Given the description of an element on the screen output the (x, y) to click on. 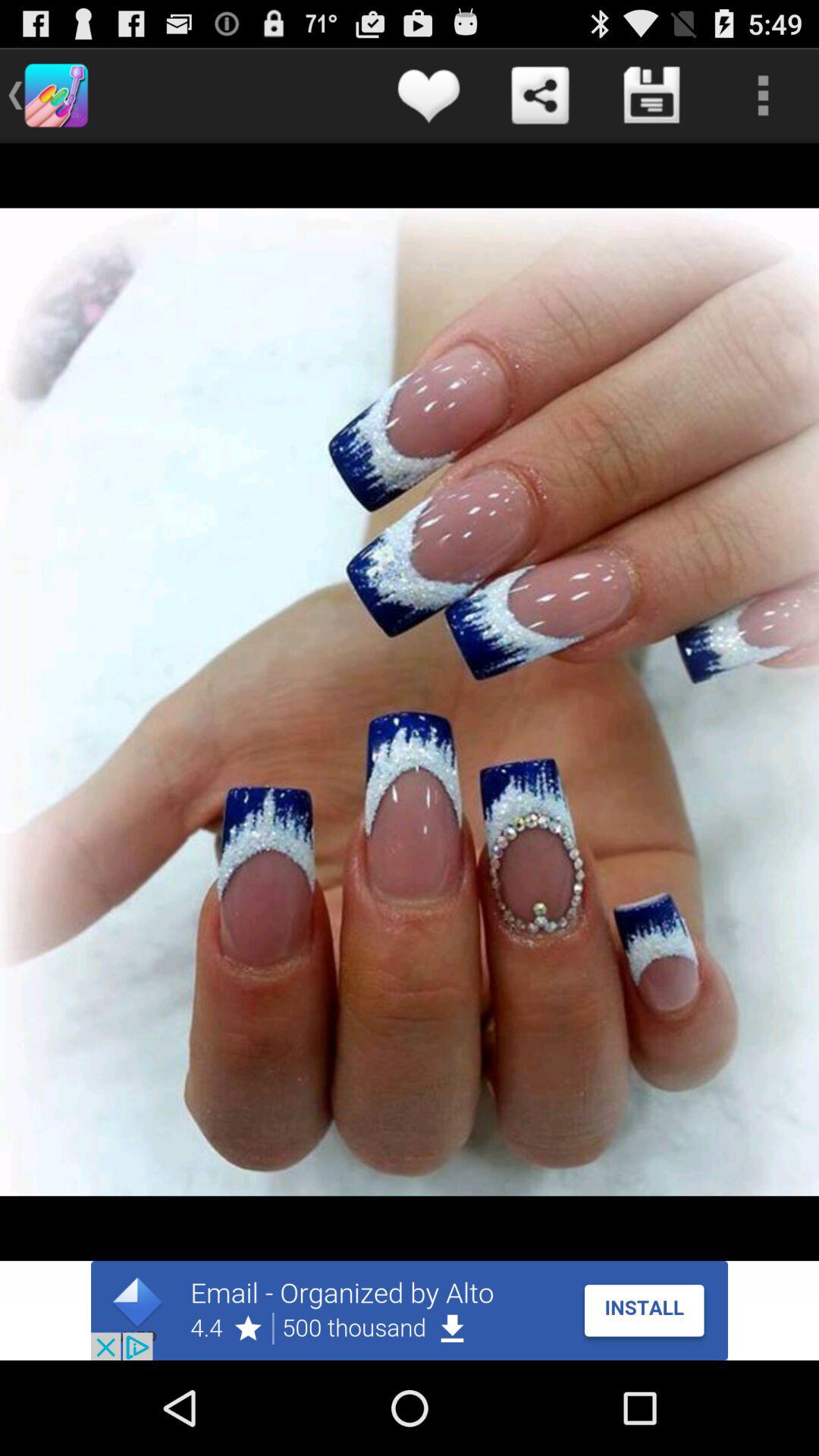
open settings (763, 95)
